Given the description of an element on the screen output the (x, y) to click on. 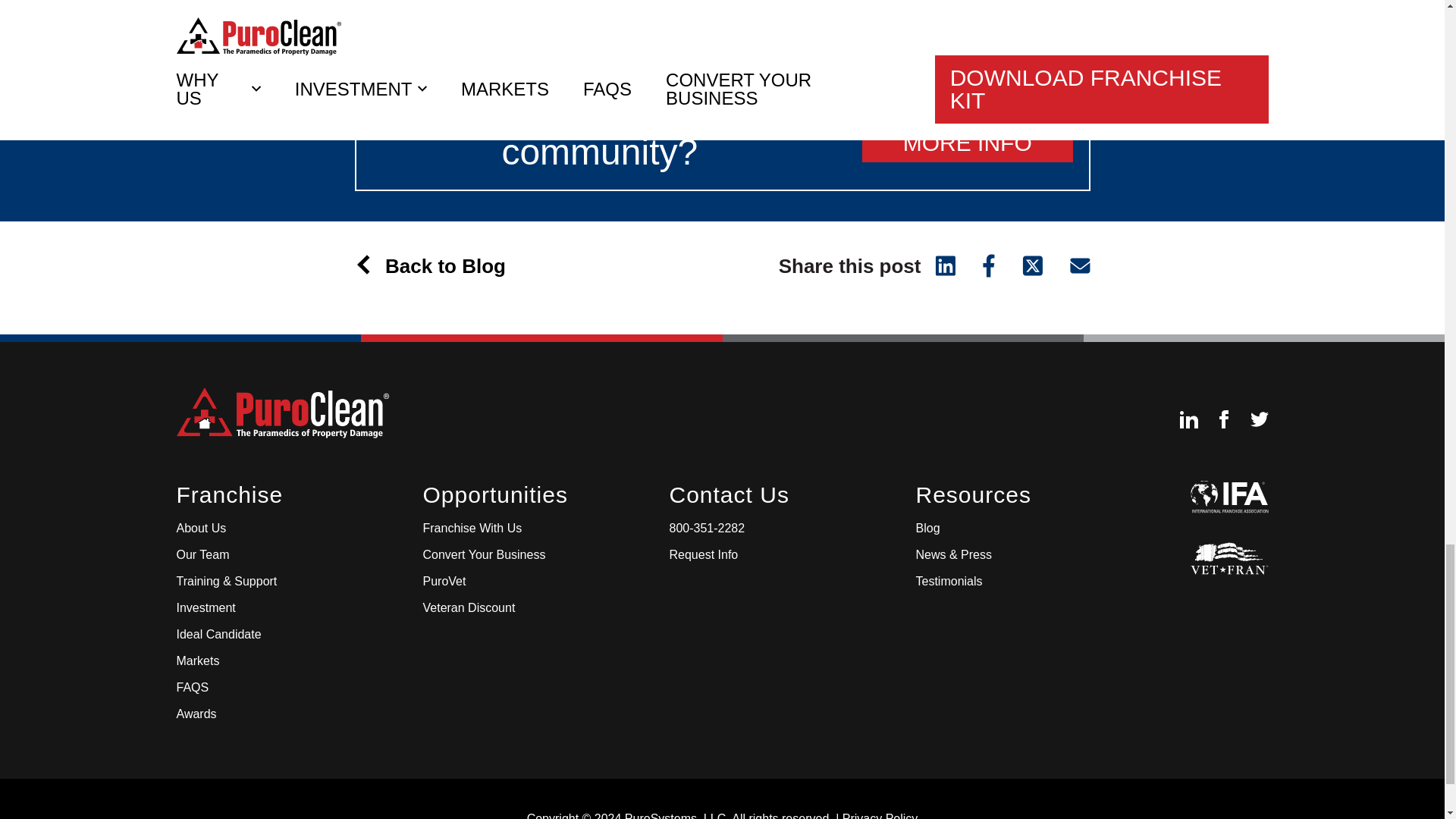
About Us (200, 528)
Markets (197, 661)
Investment (205, 607)
Our Team (202, 554)
Share on LinkedIn (944, 263)
Email this Article (1072, 263)
REQUEST MORE INFO (967, 131)
FAQS (192, 687)
Back to Blog (438, 265)
Share on Twitter (1033, 263)
Ideal Candidate (218, 634)
Share on Facebook (989, 263)
